Given the description of an element on the screen output the (x, y) to click on. 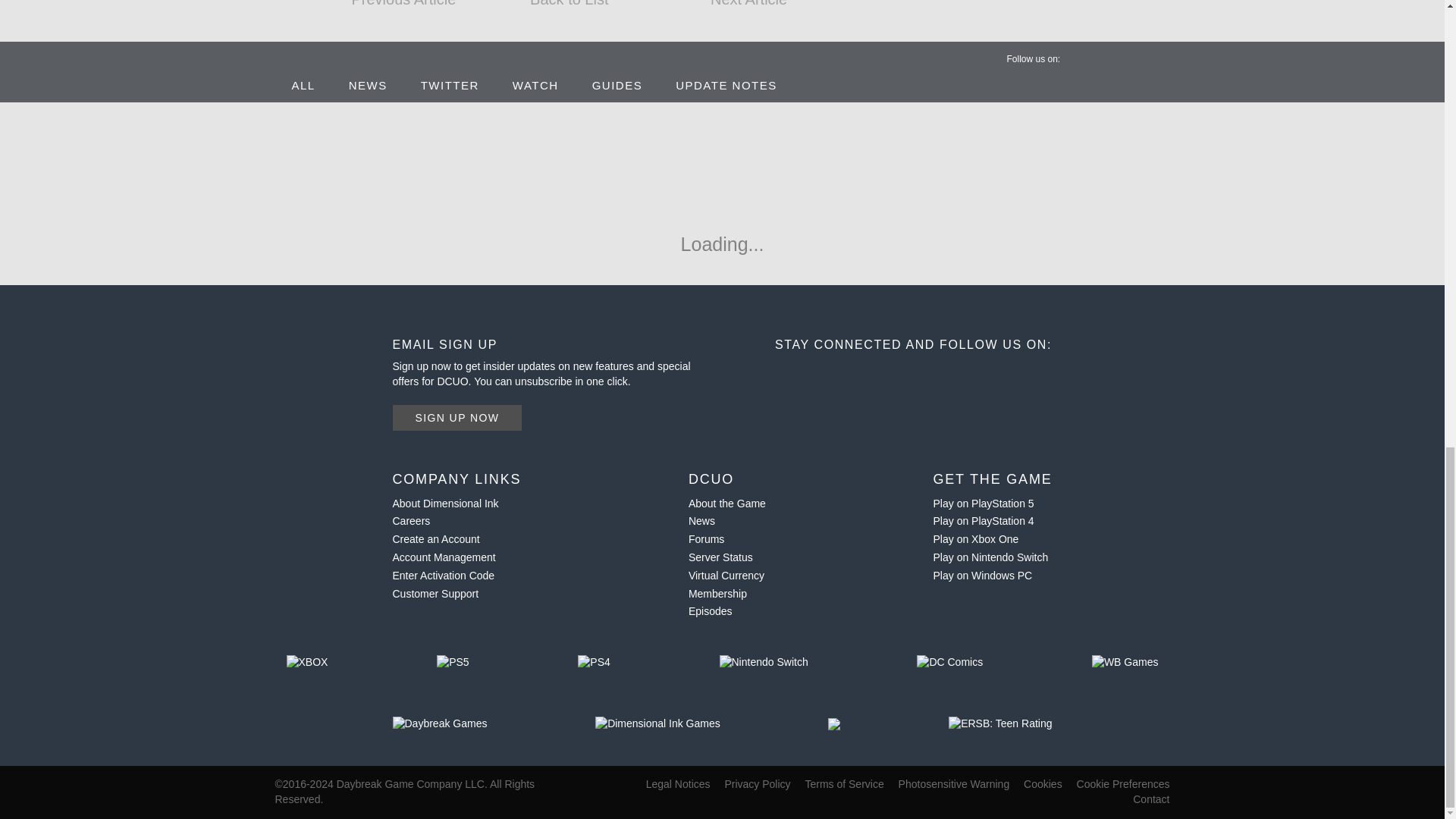
Previous Article (404, 9)
Back to List (569, 9)
Next Article (733, 9)
